Given the description of an element on the screen output the (x, y) to click on. 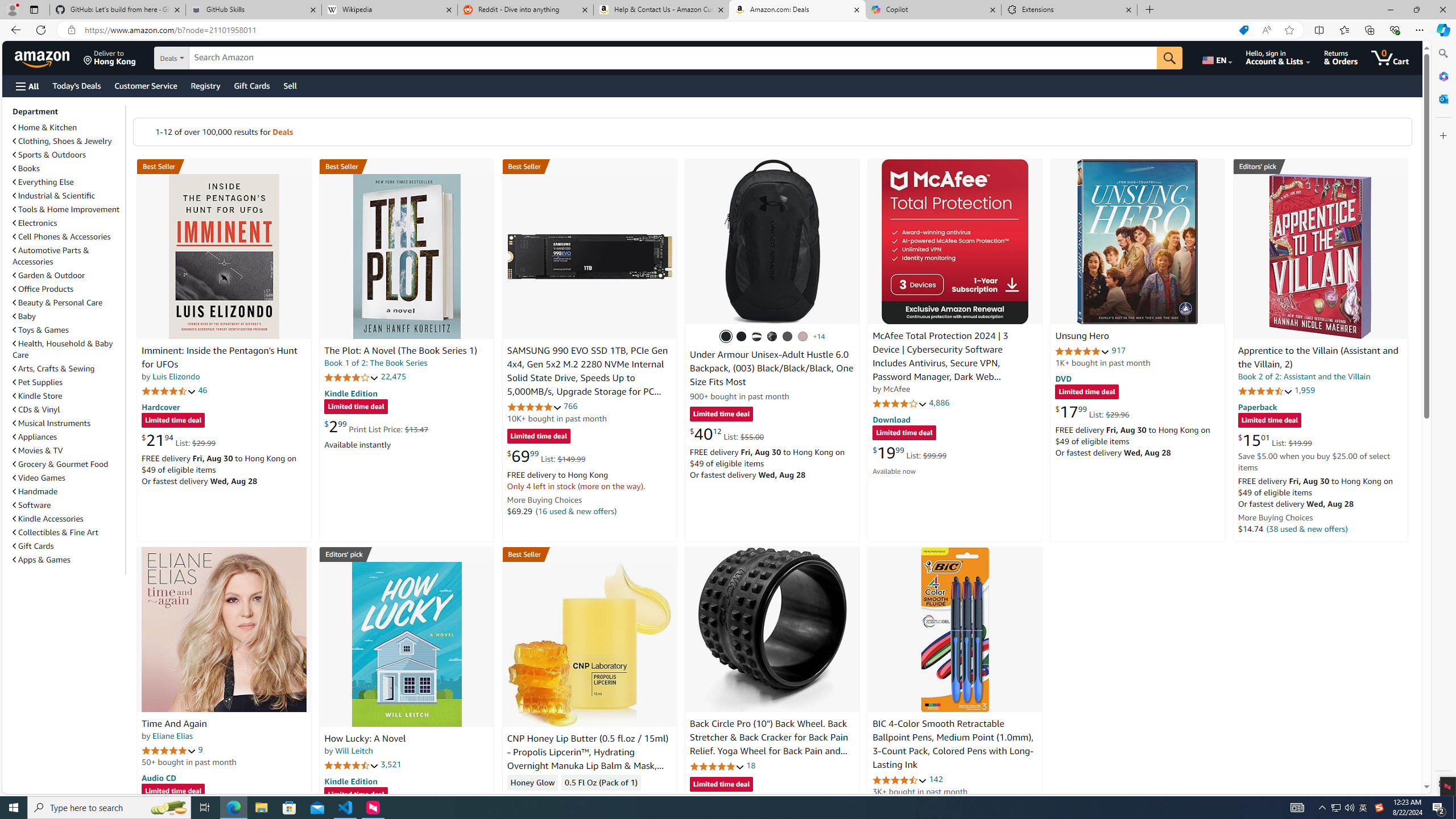
Copilot (933, 9)
Handmade (67, 491)
Beauty & Personal Care (67, 301)
Video Games (39, 477)
Hello, sign in Account & Lists (1278, 57)
1,959 (1305, 390)
Editors' pick Best Science Fiction & Fantasy (1320, 165)
22,475 (393, 376)
Office Products (43, 289)
(004) Black / Black / Metallic Gold (772, 336)
Amazon (43, 57)
+14 (818, 336)
Movies & TV (67, 450)
Software (31, 504)
CDs & Vinyl (67, 409)
